Given the description of an element on the screen output the (x, y) to click on. 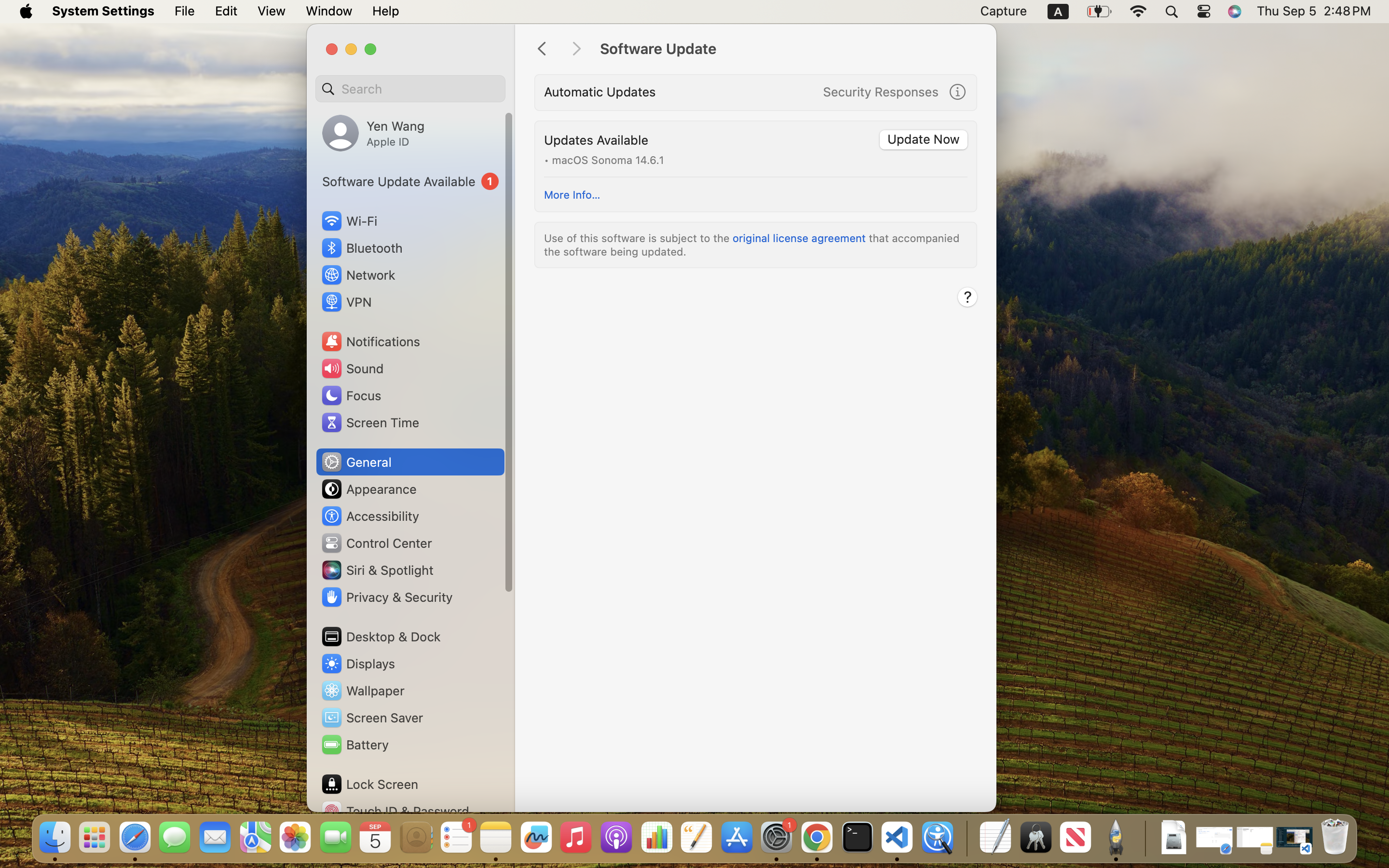
Appearance Element type: AXStaticText (368, 488)
Privacy & Security Element type: AXStaticText (386, 596)
Use of this software is subject to the original license agreement that accompanied the software being updated. Element type: AXStaticText (753, 243)
Yen Wang, Apple ID Element type: AXStaticText (373, 132)
VPN Element type: AXStaticText (345, 301)
